Given the description of an element on the screen output the (x, y) to click on. 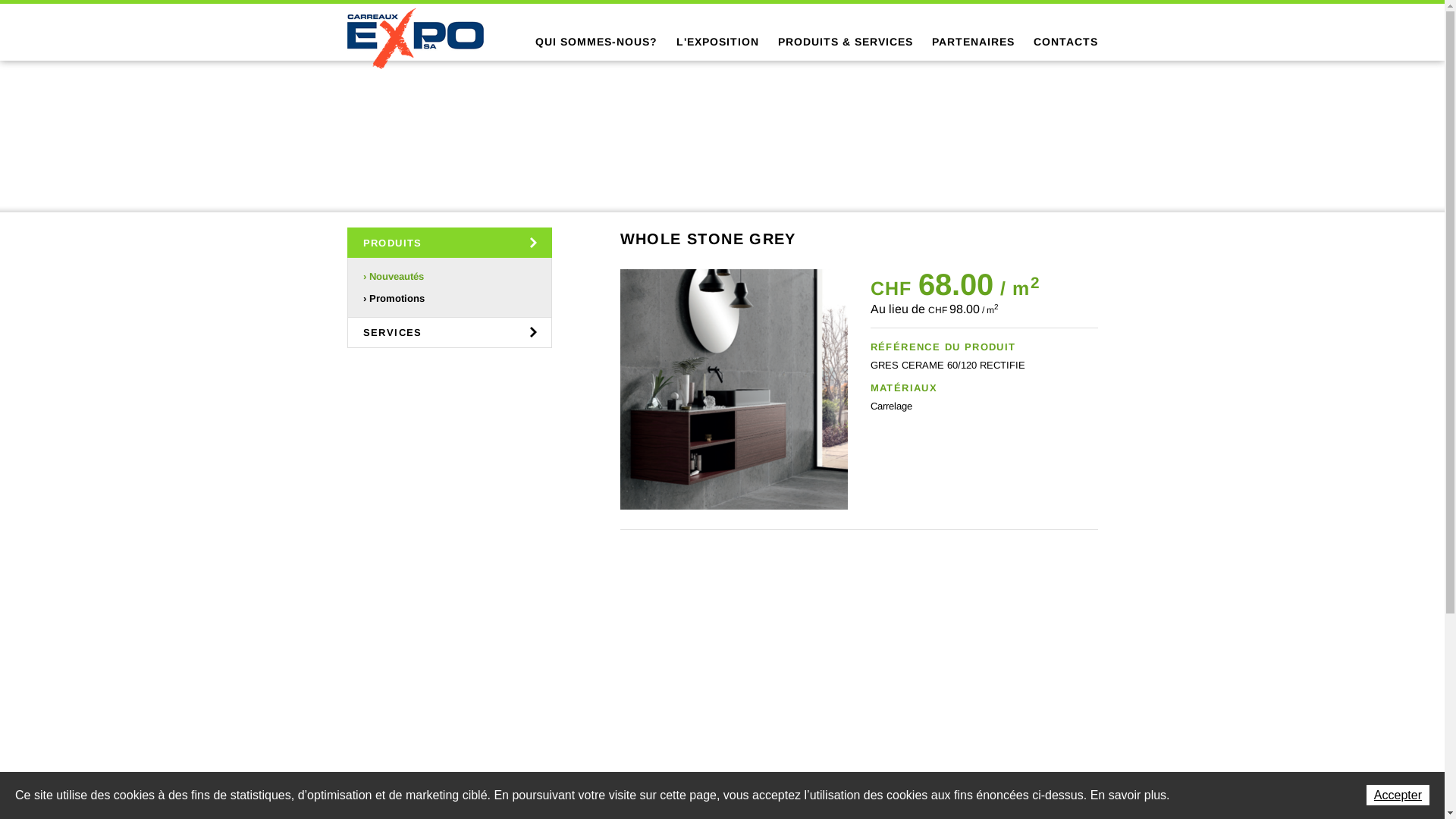
PRODUITS & SERVICES Element type: text (845, 41)
Accepter Element type: text (1397, 794)
Carreaux Expo SA Element type: text (415, 38)
PRODUITS Element type: text (449, 242)
SERVICES Element type: text (449, 332)
PARTENAIRES Element type: text (972, 41)
QUI SOMMES-NOUS? Element type: text (596, 41)
L'EXPOSITION Element type: text (717, 41)
CONTACTS Element type: text (1064, 41)
